Given the description of an element on the screen output the (x, y) to click on. 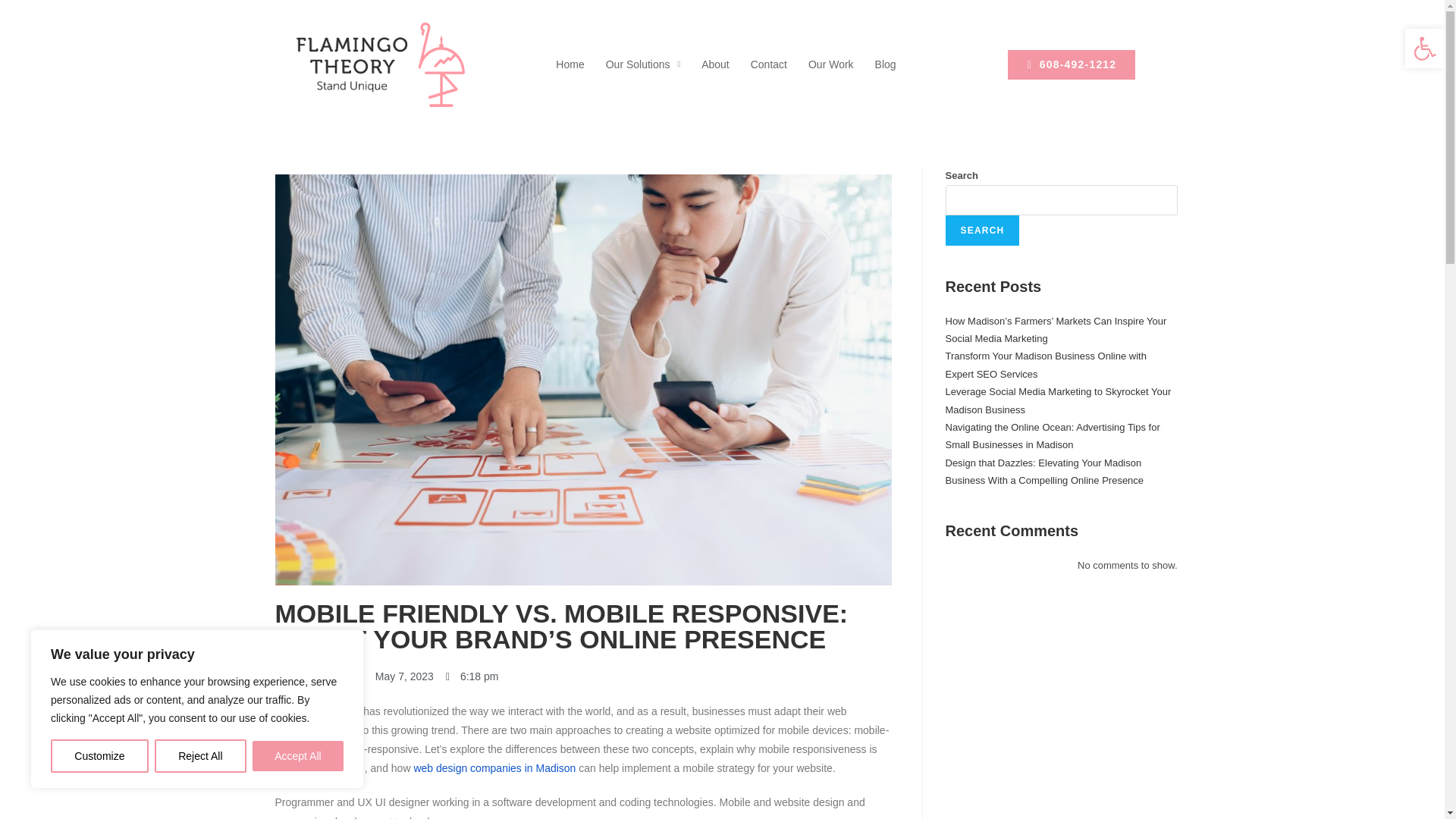
Our Work (830, 63)
Home (569, 63)
Our Solutions (642, 63)
Reject All (200, 756)
Customize (99, 756)
About (715, 63)
Accessibility Tools (1424, 48)
Contact (768, 63)
Blog (885, 63)
Accept All (297, 756)
